Given the description of an element on the screen output the (x, y) to click on. 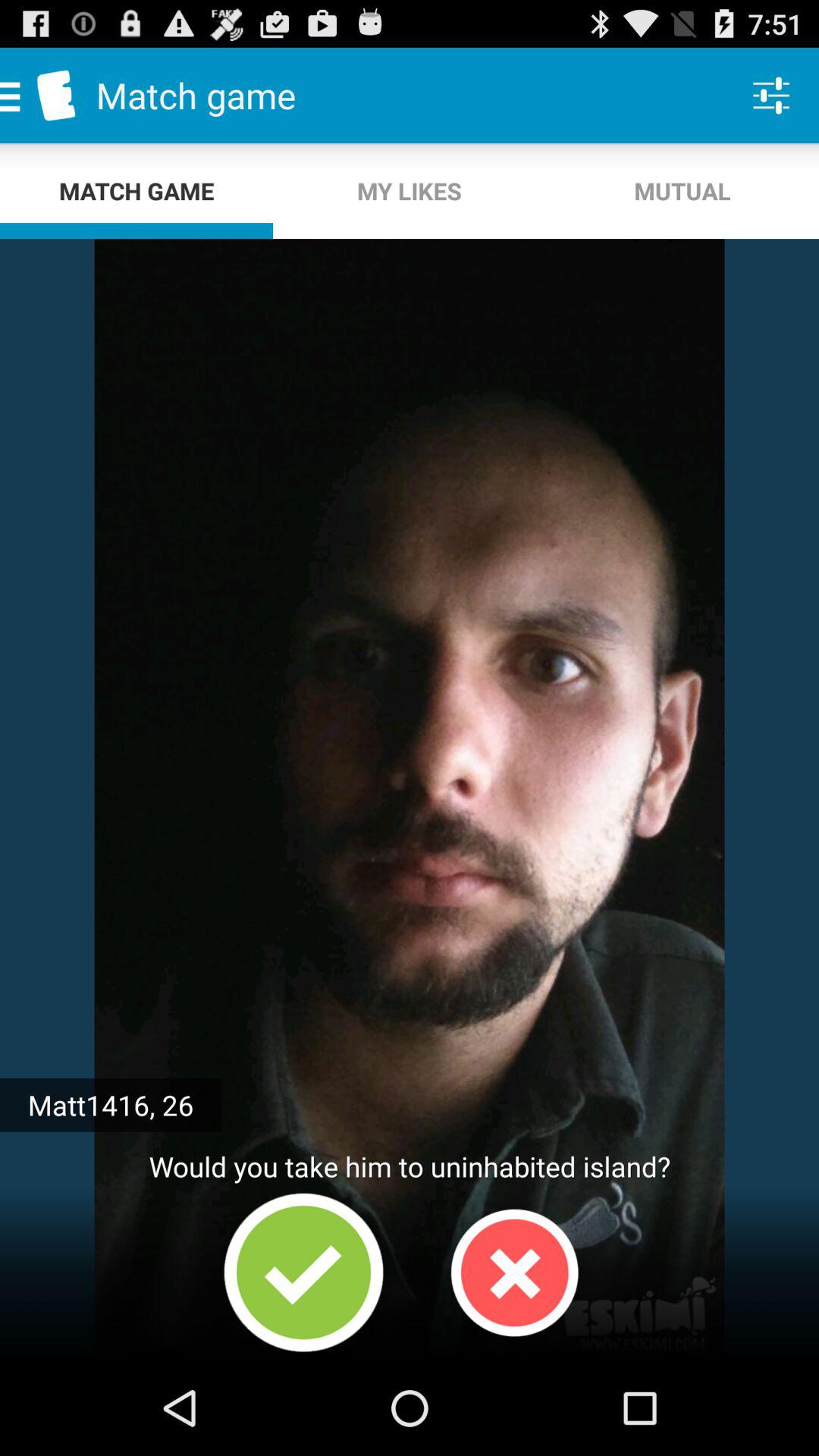
tap the my likes (409, 190)
